Given the description of an element on the screen output the (x, y) to click on. 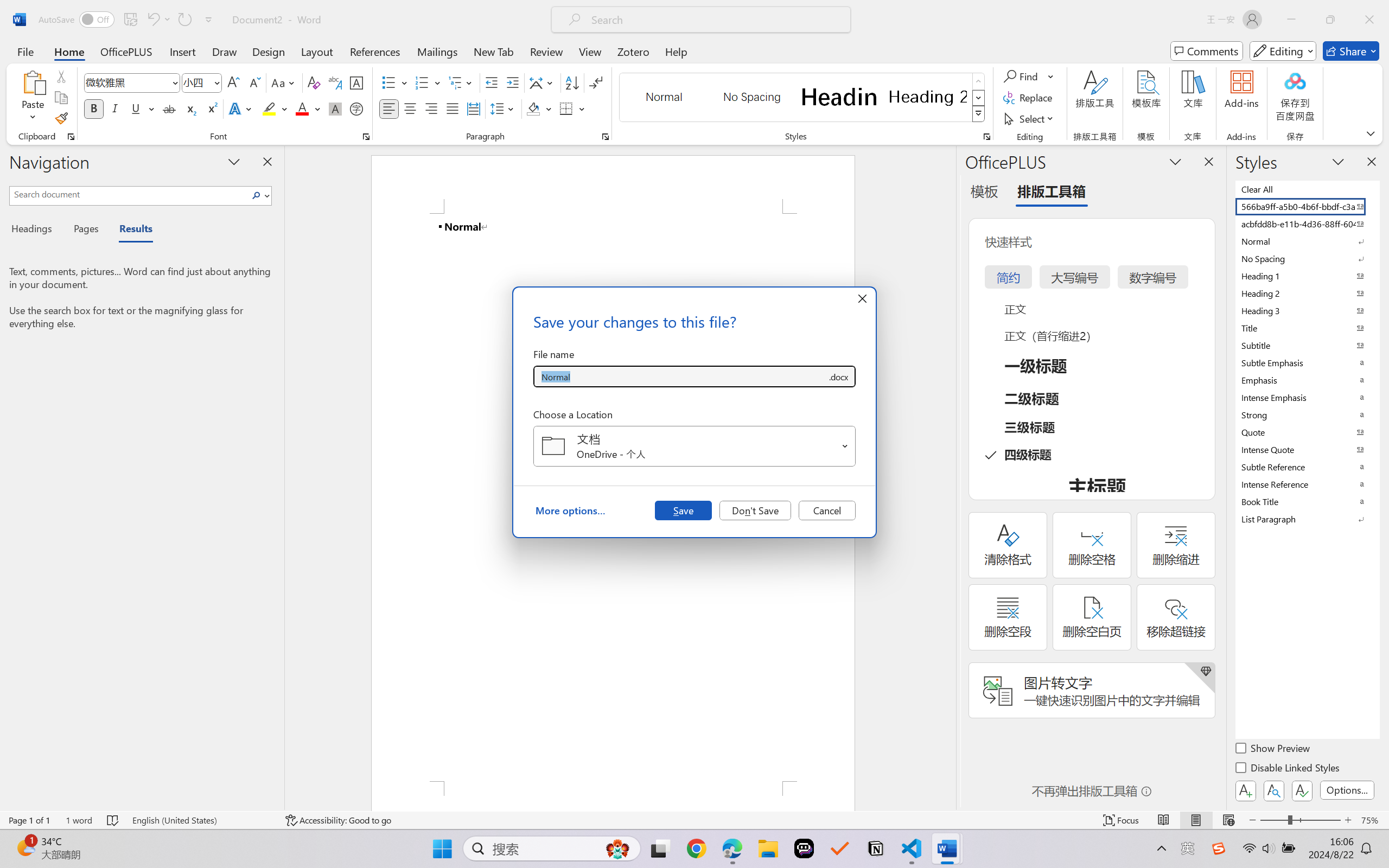
Title (1306, 327)
Styles (978, 113)
Undo <ApplyStyleToDoc>b__0 (152, 19)
OfficePLUS (126, 51)
acbfdd8b-e11b-4d36-88ff-6049b138f862 (1306, 223)
Heading 2 (927, 96)
Zoom Out (1273, 819)
Select (1030, 118)
Clear All (1306, 188)
Find (1022, 75)
